Given the description of an element on the screen output the (x, y) to click on. 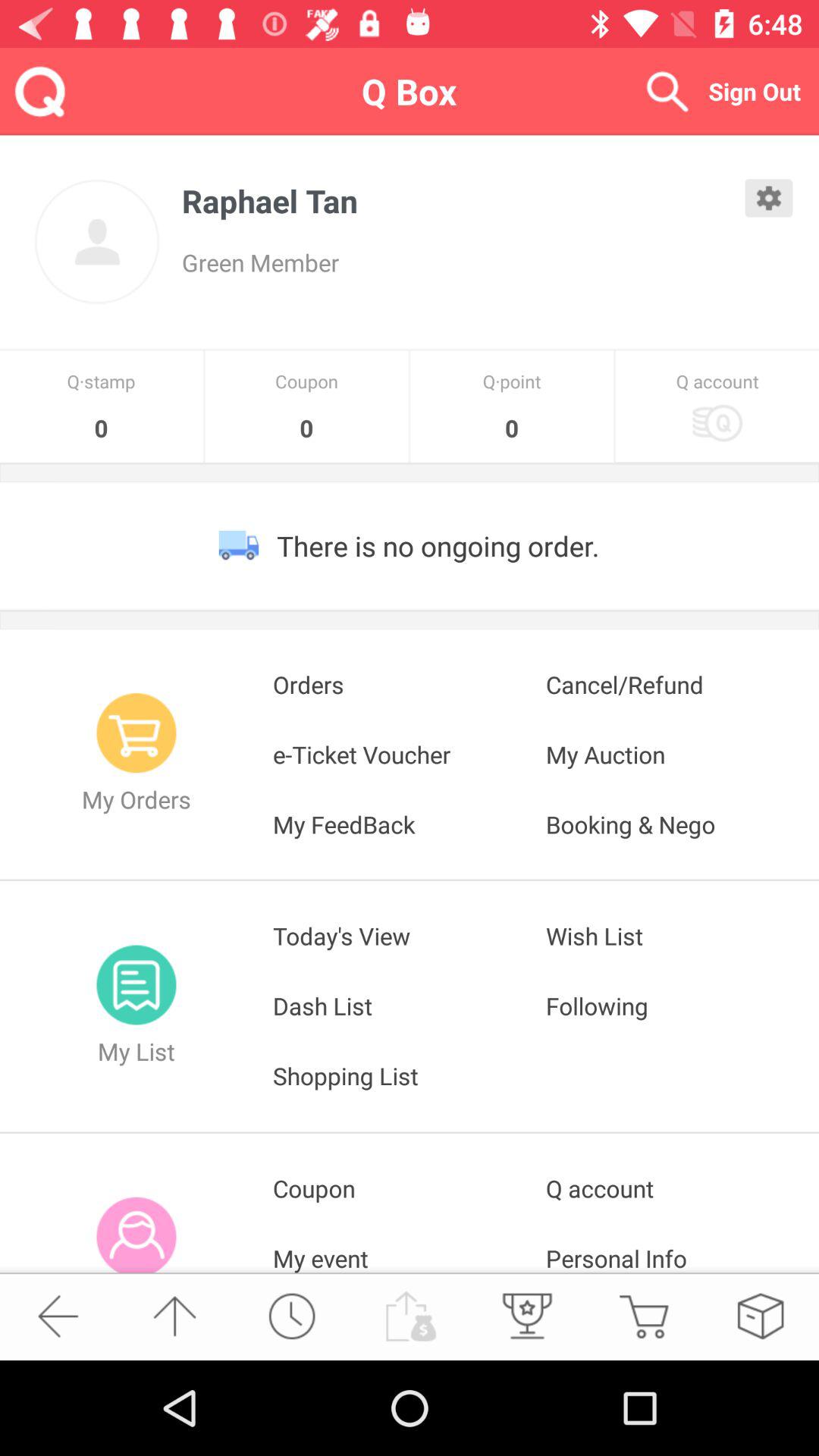
upload the article (408, 1316)
